Given the description of an element on the screen output the (x, y) to click on. 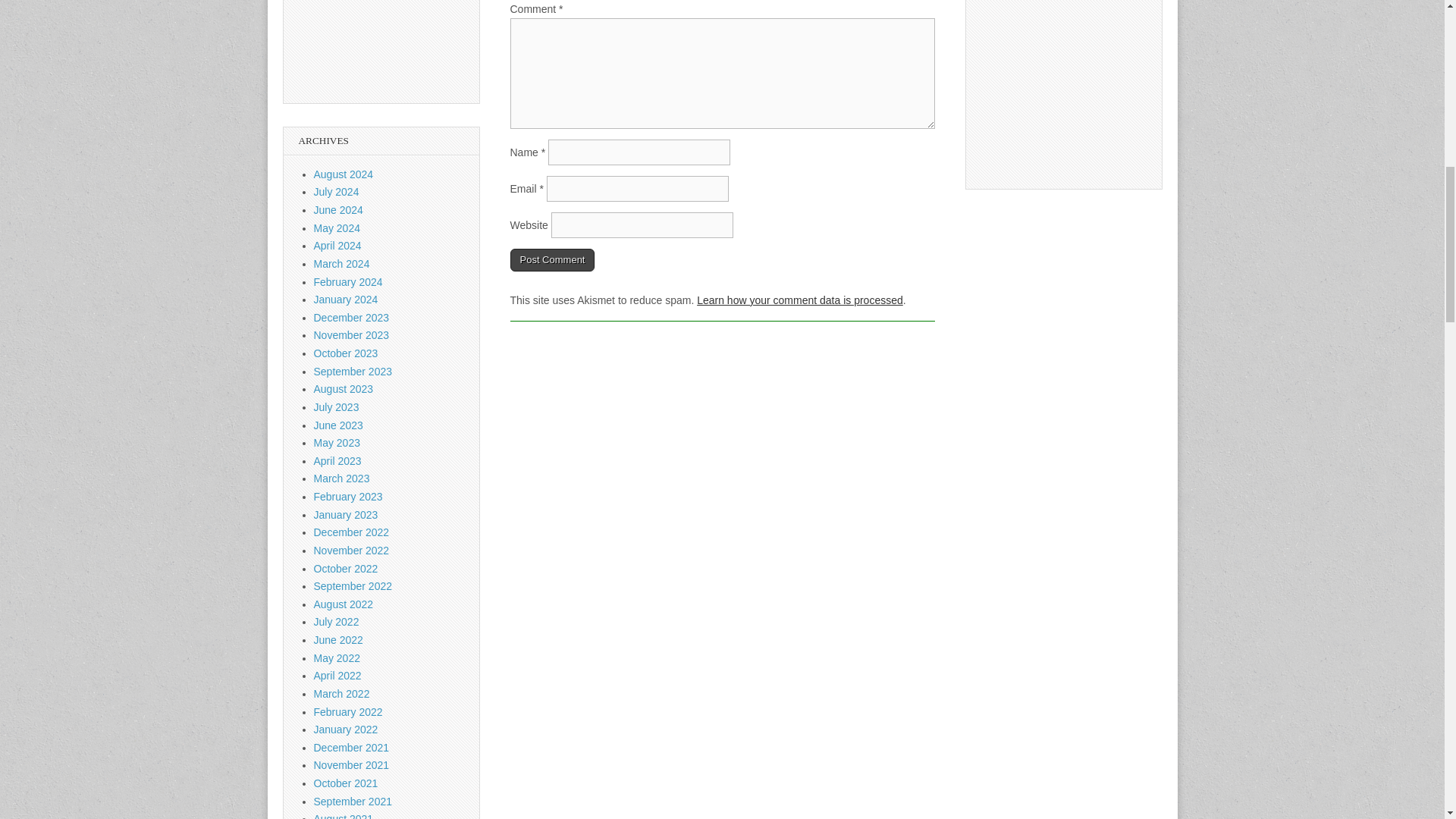
Learn how your comment data is processed (799, 300)
August 2024 (344, 174)
May 2024 (336, 227)
March 2024 (341, 263)
Post Comment (551, 259)
February 2024 (348, 282)
Post Comment (551, 259)
April 2024 (337, 245)
July 2024 (336, 191)
June 2024 (338, 209)
